Given the description of an element on the screen output the (x, y) to click on. 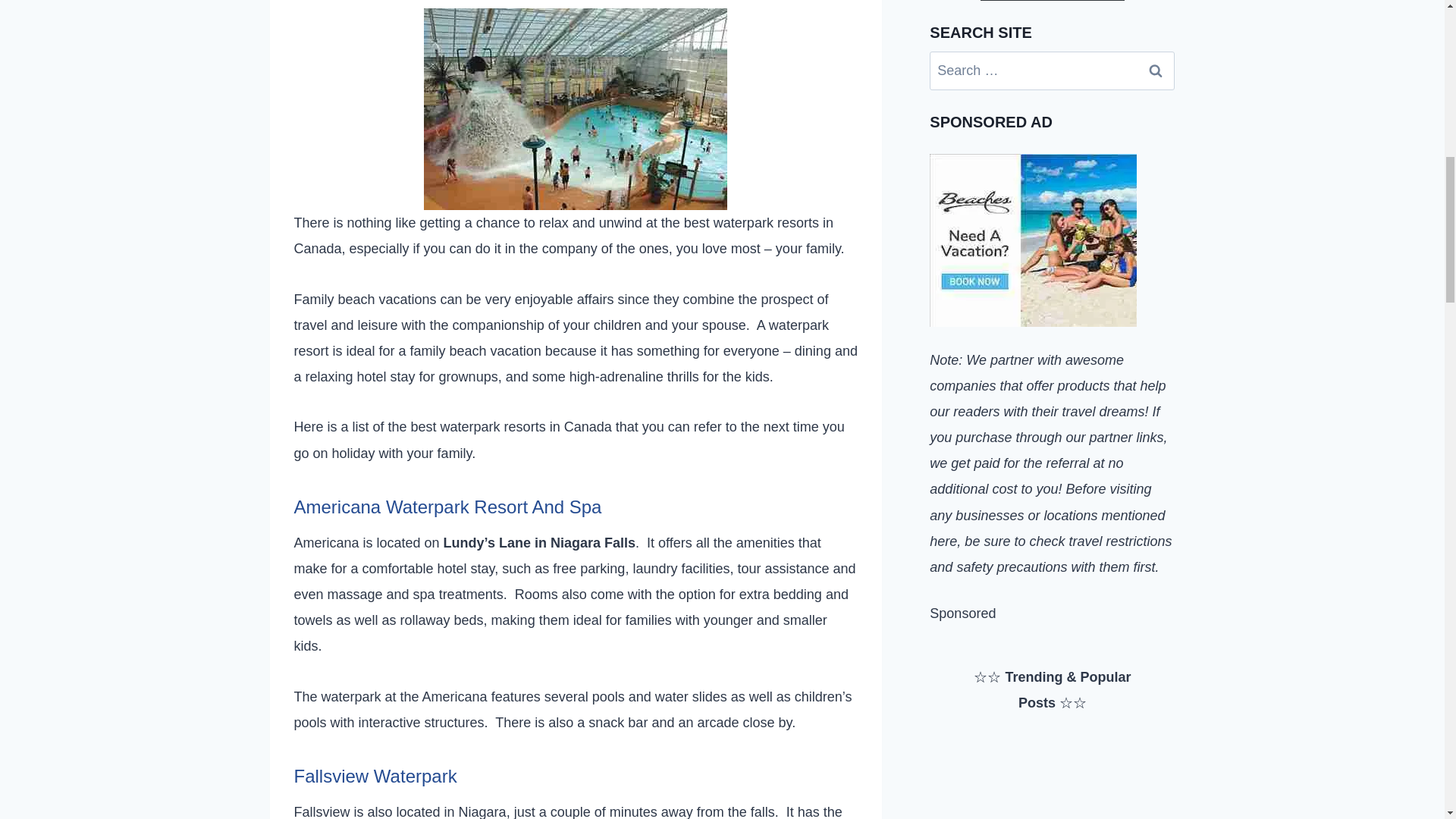
Search (1155, 70)
 Americana Waterpark Resort (574, 108)
Search (1155, 70)
